Given the description of an element on the screen output the (x, y) to click on. 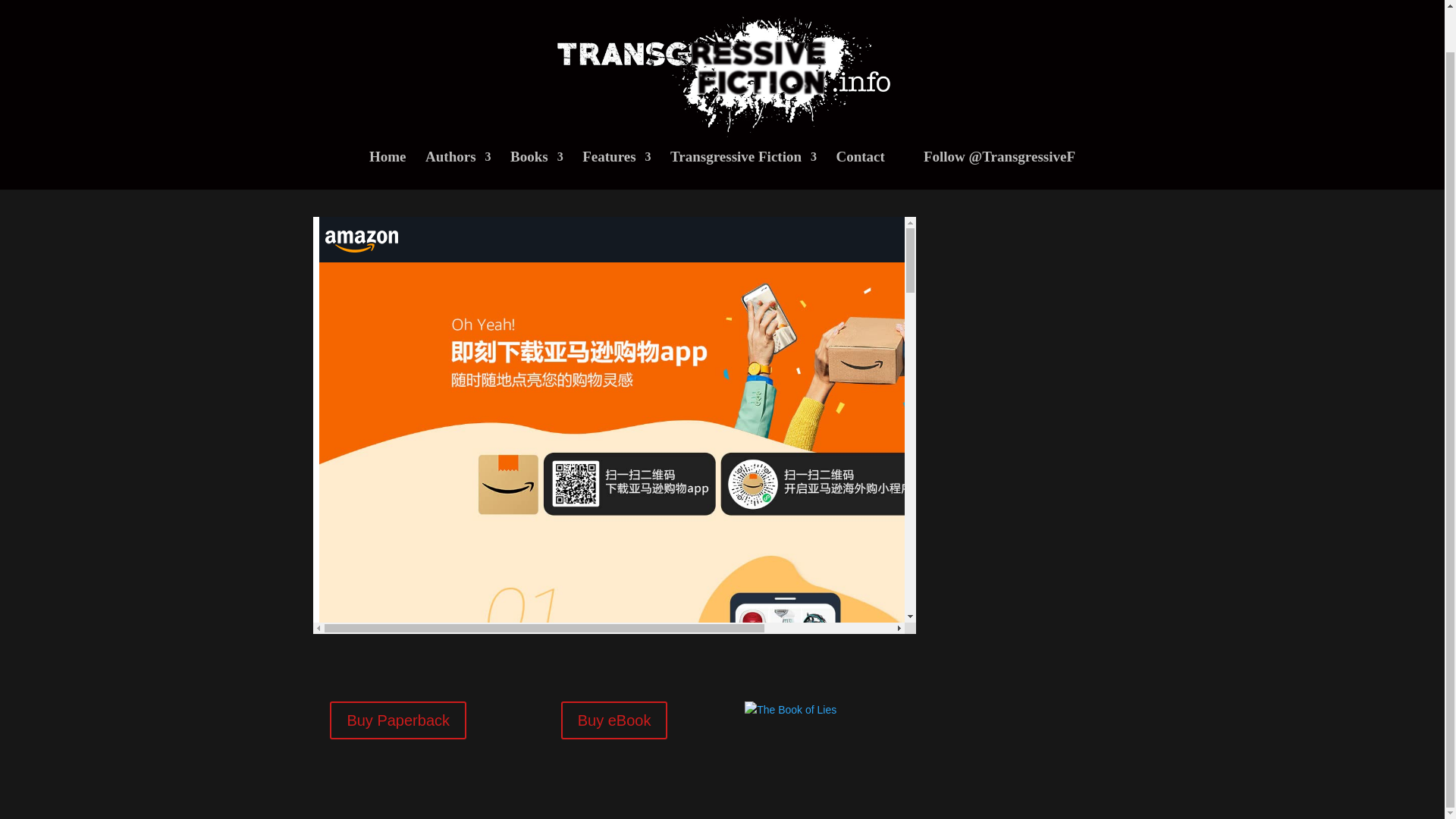
Books (537, 125)
Buy eBook (614, 720)
Home (387, 125)
Contact (859, 125)
Features (616, 125)
Buy Paperback (397, 720)
Transgressive Fiction (742, 125)
Authors (458, 125)
